Given the description of an element on the screen output the (x, y) to click on. 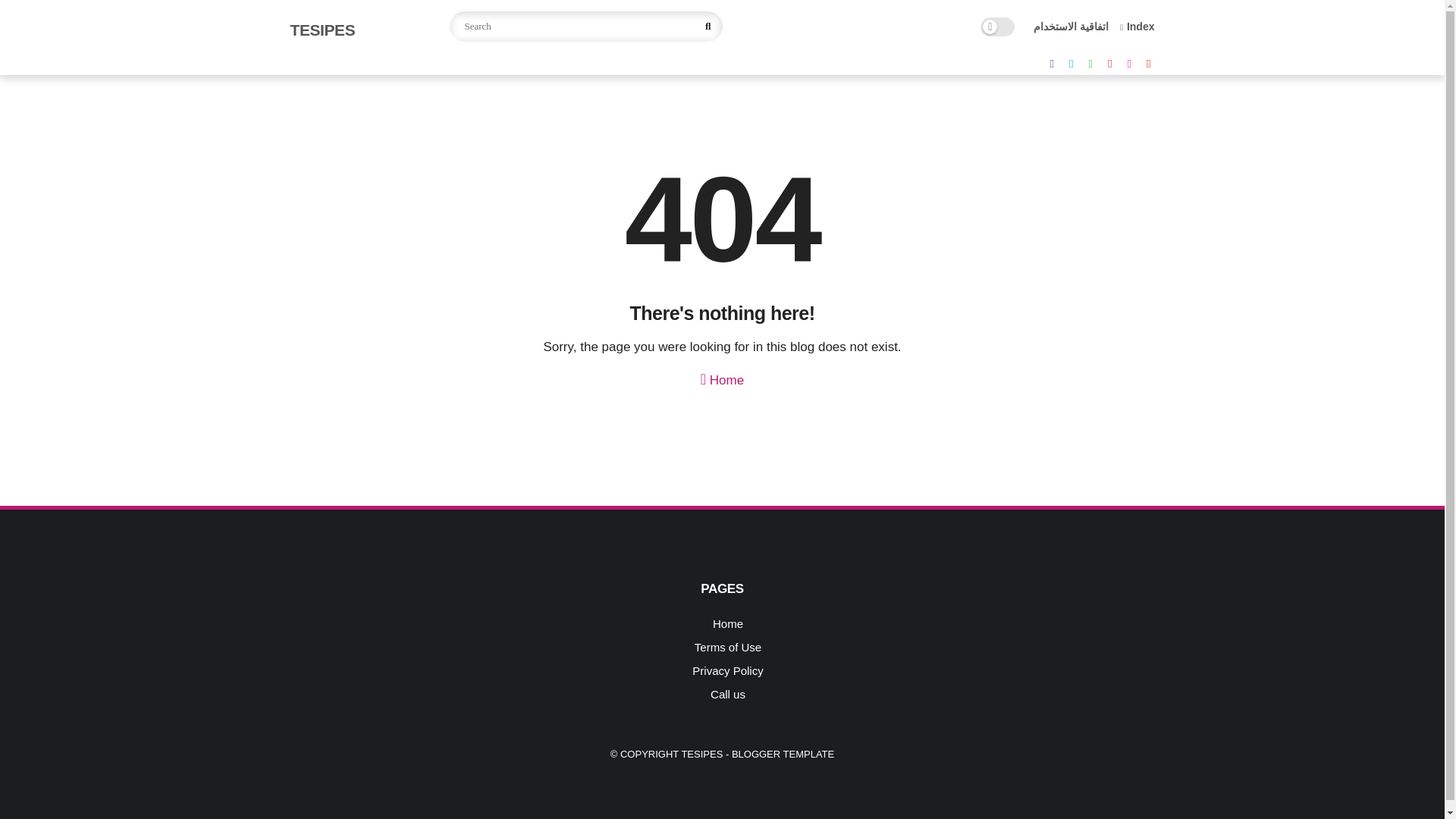
Home (727, 623)
TESIPES (701, 754)
Index (1136, 26)
Privacy Policy (727, 670)
TESIPES (322, 29)
Terms of Use (727, 646)
Home (721, 377)
Call us (727, 694)
